Given the description of an element on the screen output the (x, y) to click on. 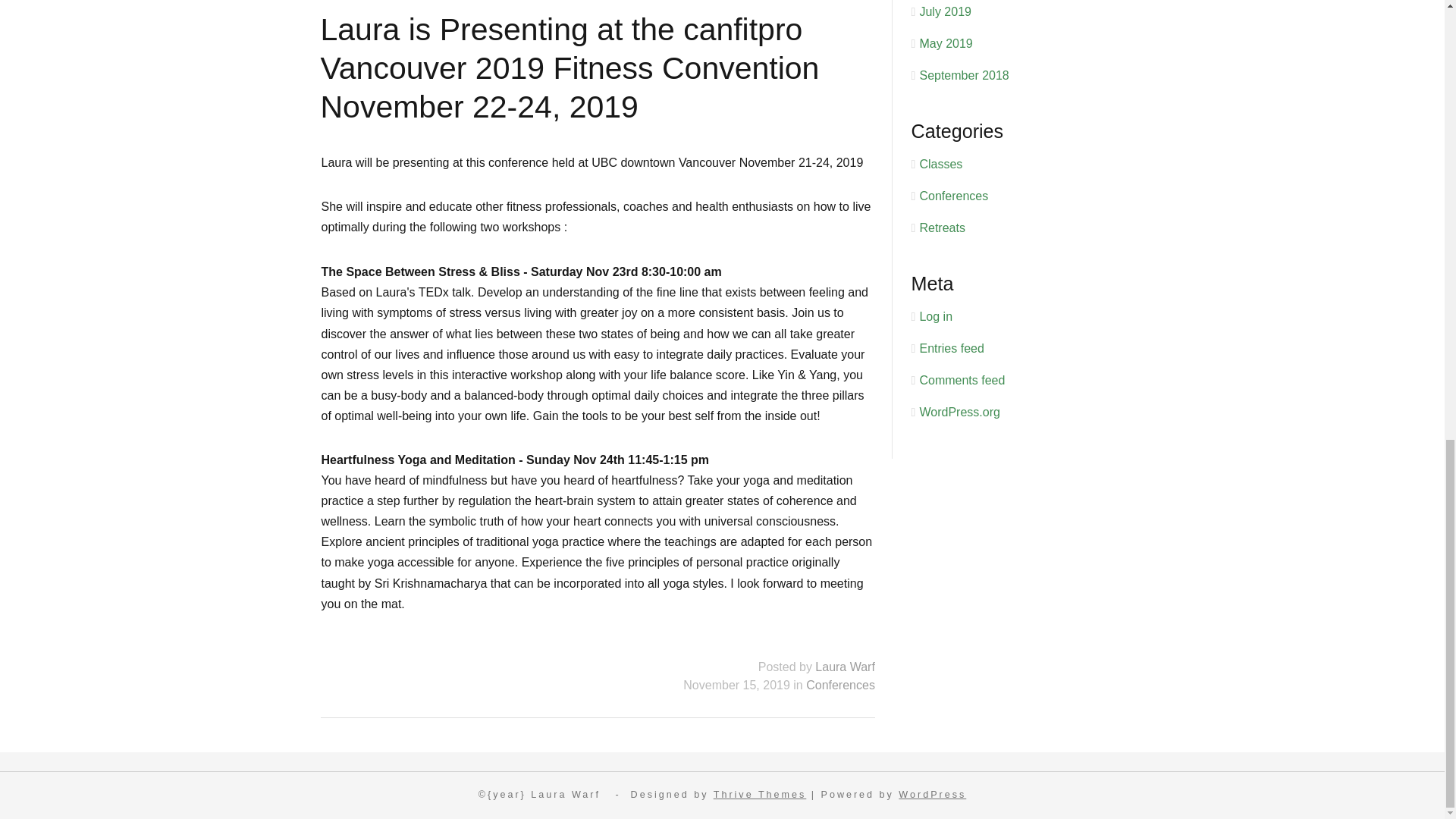
WordPress.org (958, 411)
Conferences (840, 684)
Log in (935, 316)
September 2018 (963, 74)
Conferences (953, 195)
Thrive Themes (759, 794)
WordPress (932, 794)
Laura Warf (845, 666)
Classes (940, 164)
Entries feed (951, 348)
Comments feed (961, 379)
Retreats (940, 227)
May 2019 (945, 42)
July 2019 (944, 11)
